Given the description of an element on the screen output the (x, y) to click on. 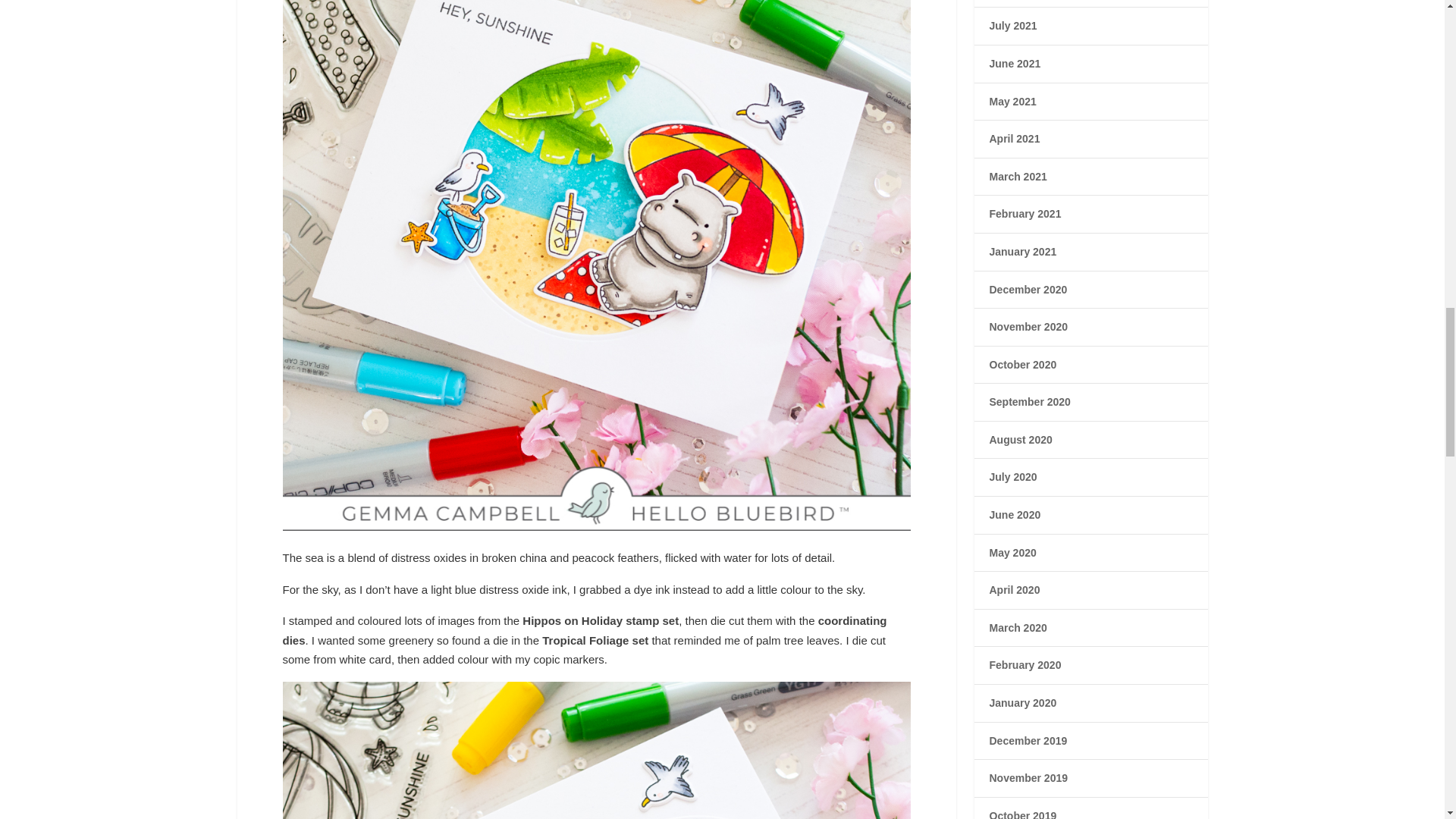
Hippos on Holiday stamp set (600, 620)
coordinating dies (584, 630)
Tropical Foliage set (594, 640)
